Given the description of an element on the screen output the (x, y) to click on. 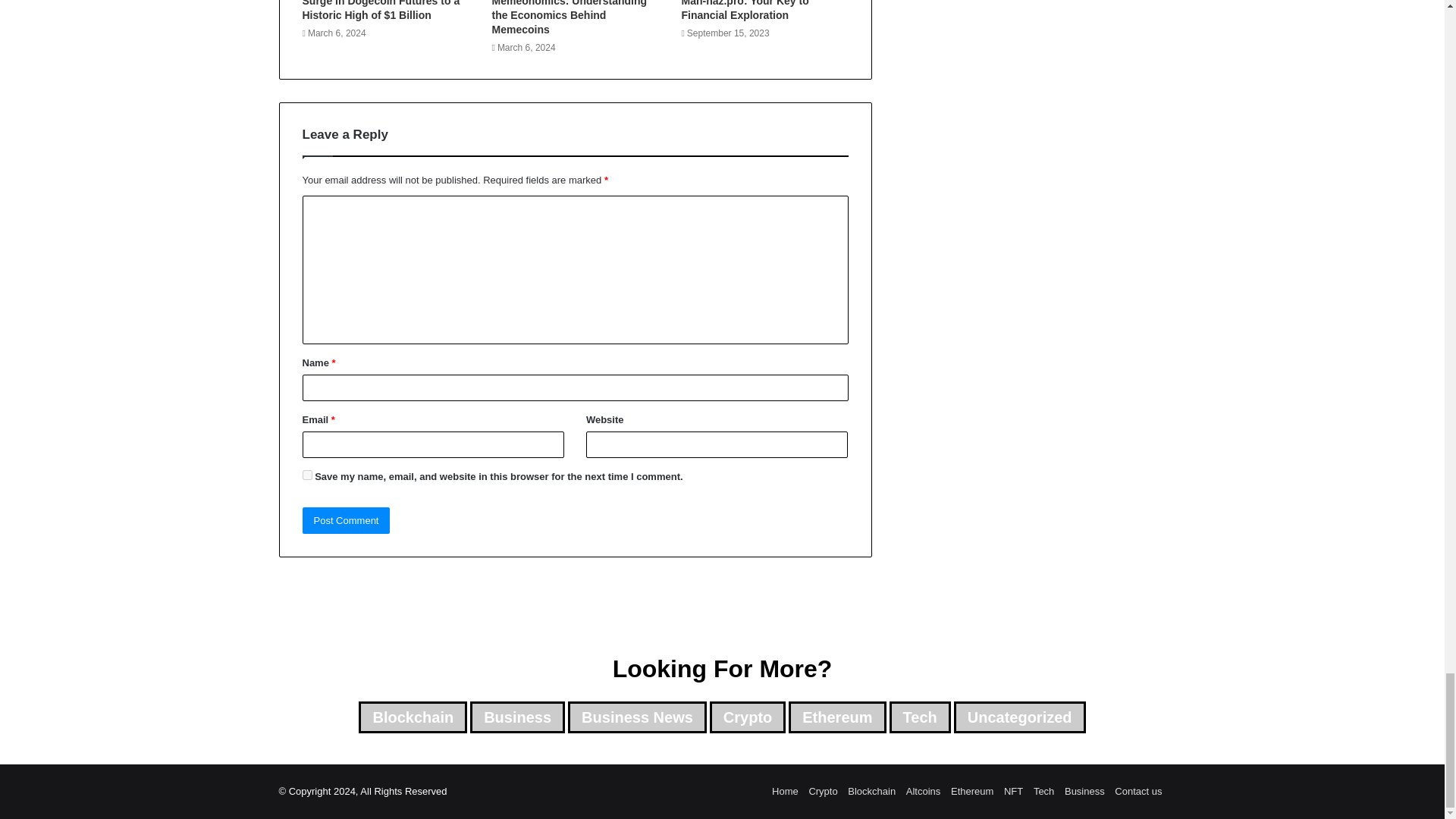
yes (306, 474)
Post Comment (345, 519)
